Given the description of an element on the screen output the (x, y) to click on. 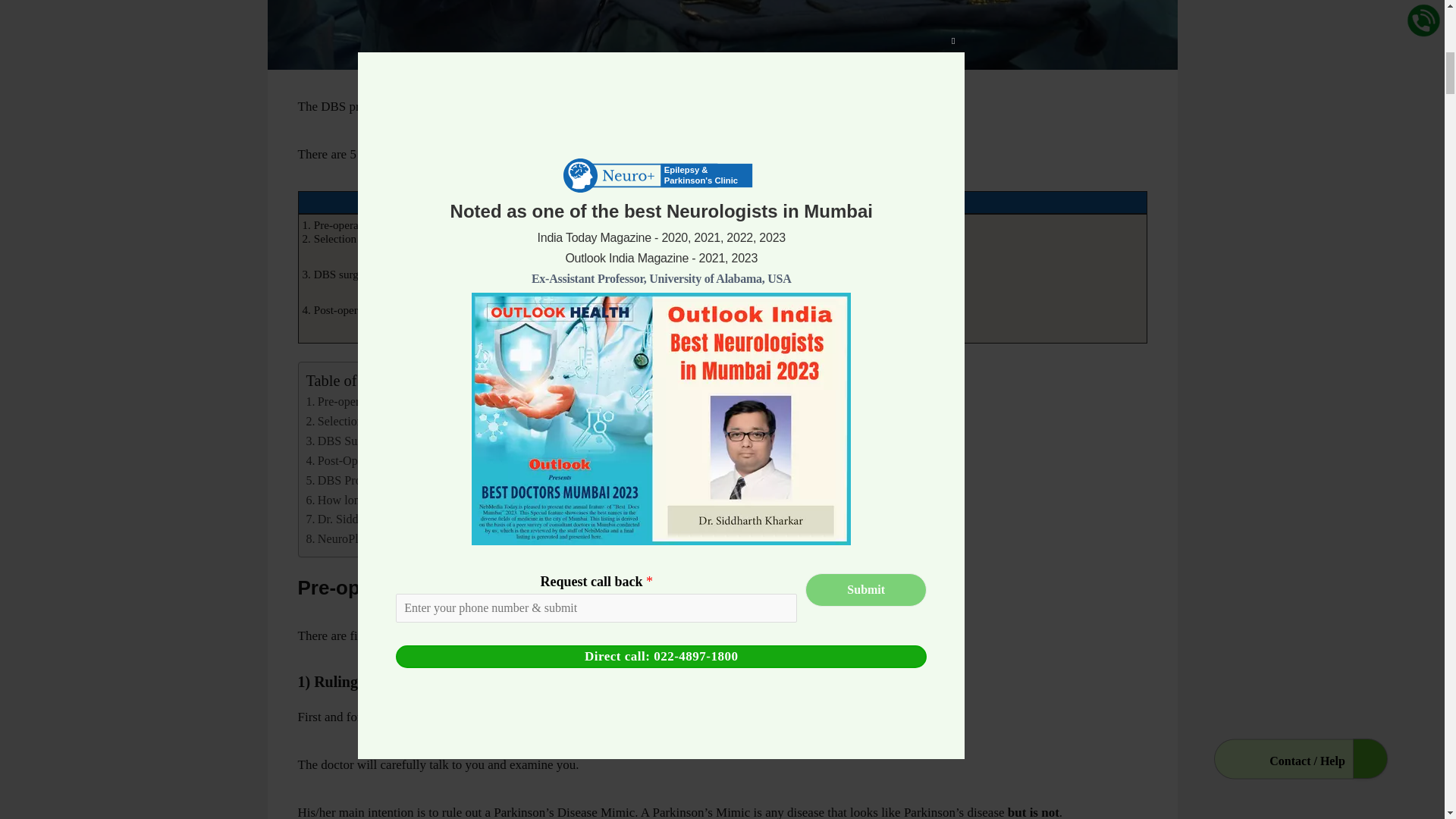
Pre-operative evaluation including Levodopa Challenge Test (459, 401)
Post-Operative Recovery (373, 460)
DBS Surgery (344, 441)
Selection of DBS target and DBS device (410, 421)
